Given the description of an element on the screen output the (x, y) to click on. 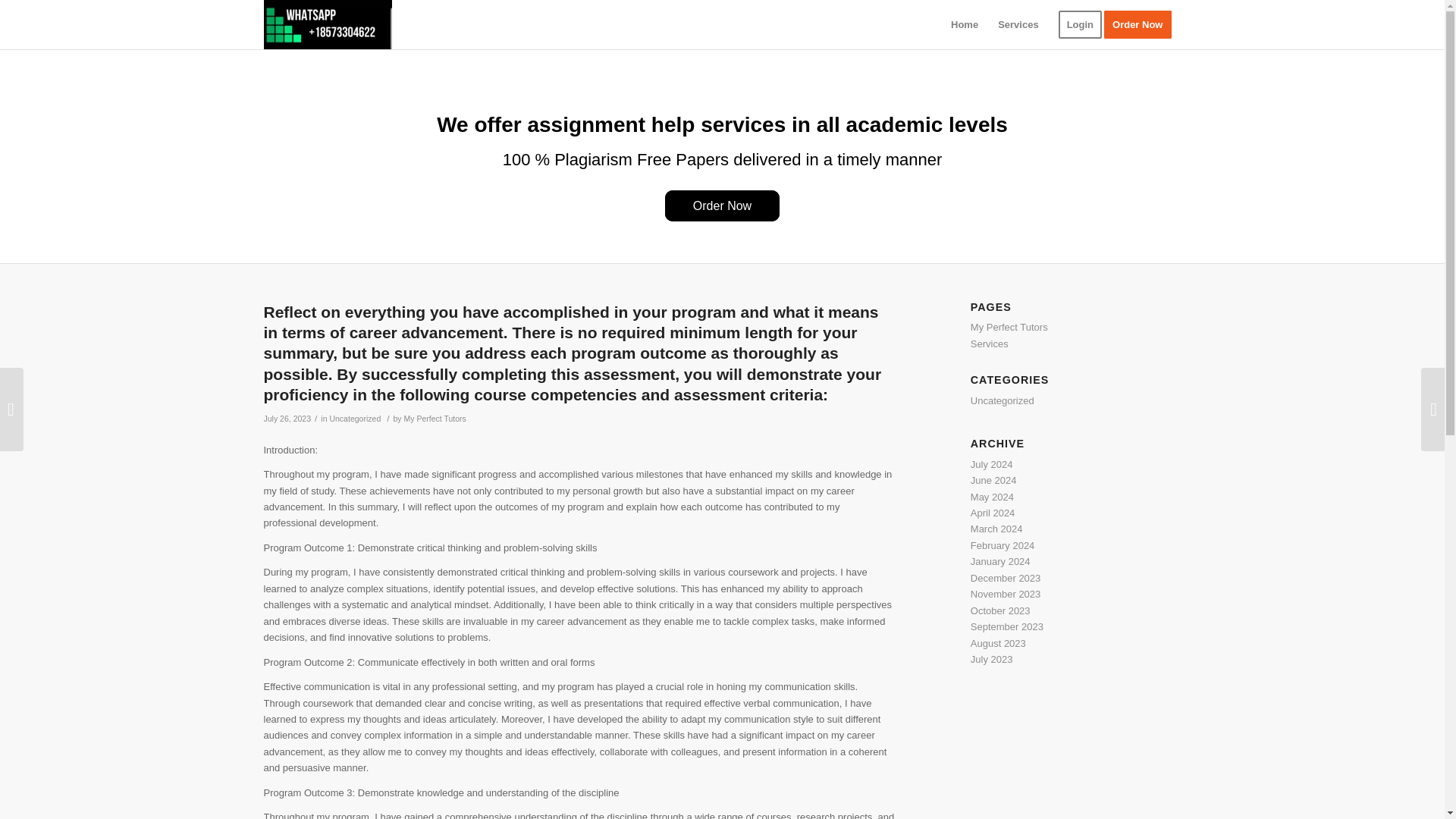
July 2023 (992, 659)
Uncategorized (354, 418)
Services (1018, 24)
Services (990, 343)
July 2024 (992, 464)
Order Now (1141, 24)
December 2023 (1006, 577)
Order Now (721, 205)
April 2024 (992, 512)
October 2023 (1000, 610)
Login (1080, 24)
Home (964, 24)
My Perfect Tutors (1009, 326)
